Given the description of an element on the screen output the (x, y) to click on. 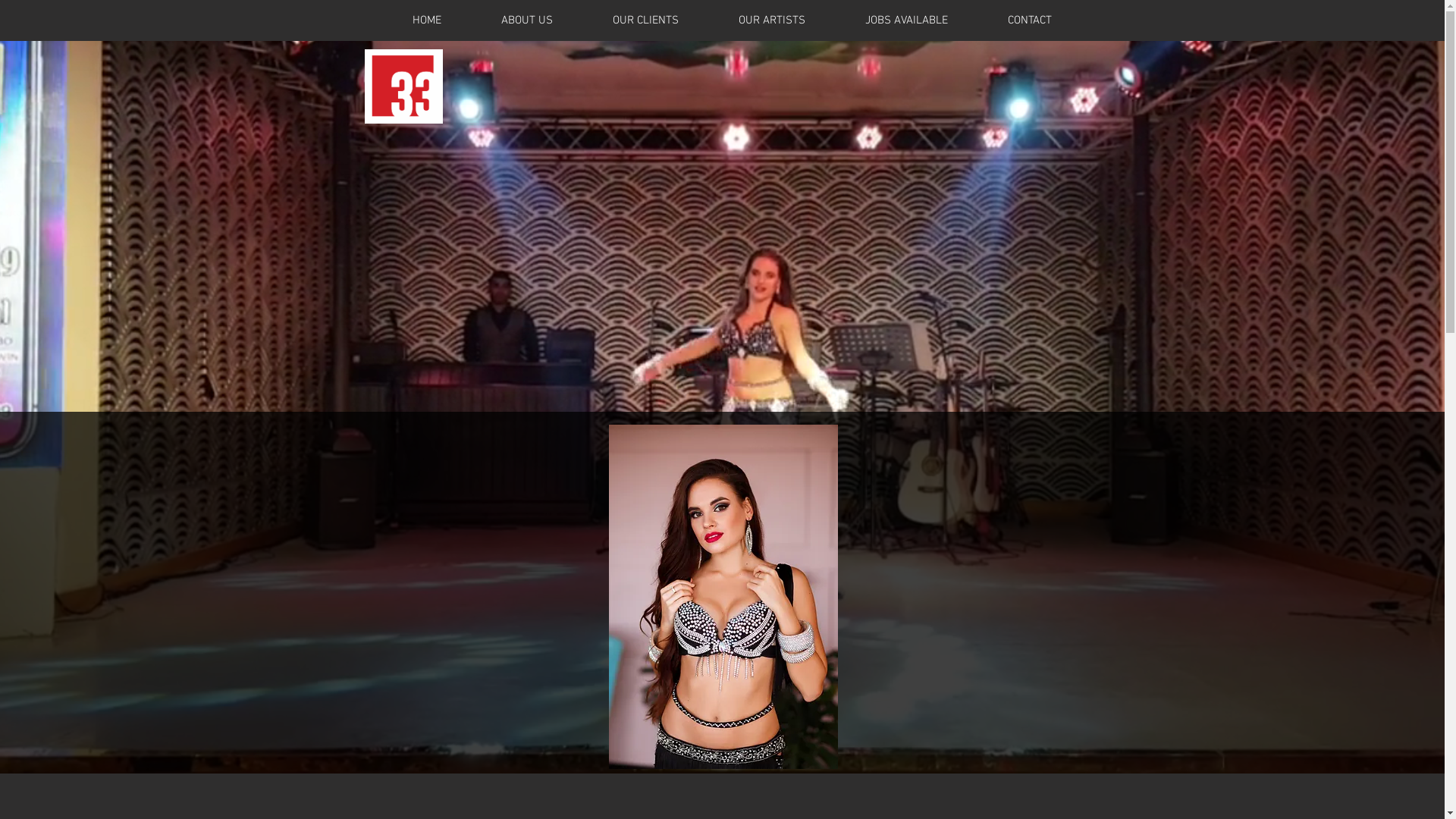
OUR CLIENTS Element type: text (665, 20)
CONTACT Element type: text (1049, 20)
OUR ARTISTS Element type: text (791, 20)
ABOUT US Element type: text (546, 20)
JOBS AVAILABLE Element type: text (926, 20)
HOME Element type: text (445, 20)
